Given the description of an element on the screen output the (x, y) to click on. 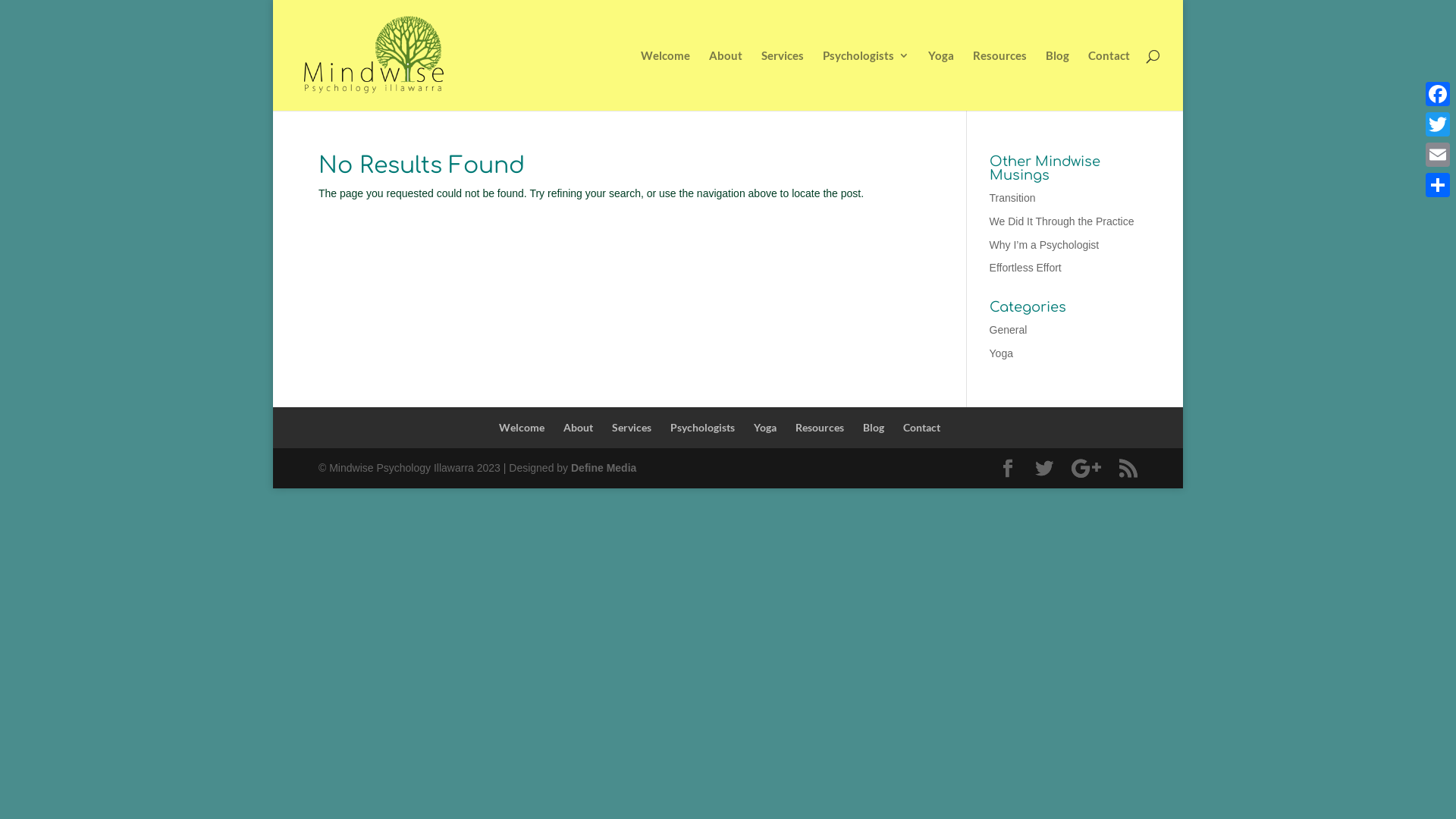
Services Element type: text (631, 426)
Yoga Element type: text (940, 80)
Welcome Element type: text (665, 80)
About Element type: text (578, 426)
Yoga Element type: text (1001, 353)
Blog Element type: text (873, 426)
Psychologists Element type: text (702, 426)
Psychologists Element type: text (865, 80)
Email Element type: text (1437, 154)
About Element type: text (725, 80)
We Did It Through the Practice Element type: text (1061, 221)
Transition Element type: text (1012, 197)
Contact Element type: text (1108, 80)
Resources Element type: text (999, 80)
Facebook Element type: text (1437, 93)
General Element type: text (1008, 329)
Define Media Element type: text (603, 467)
Contact Element type: text (921, 426)
Yoga Element type: text (764, 426)
Welcome Element type: text (521, 426)
Twitter Element type: text (1437, 124)
Services Element type: text (782, 80)
Blog Element type: text (1057, 80)
Effortless Effort Element type: text (1025, 267)
Resources Element type: text (819, 426)
Share Element type: text (1437, 184)
